Given the description of an element on the screen output the (x, y) to click on. 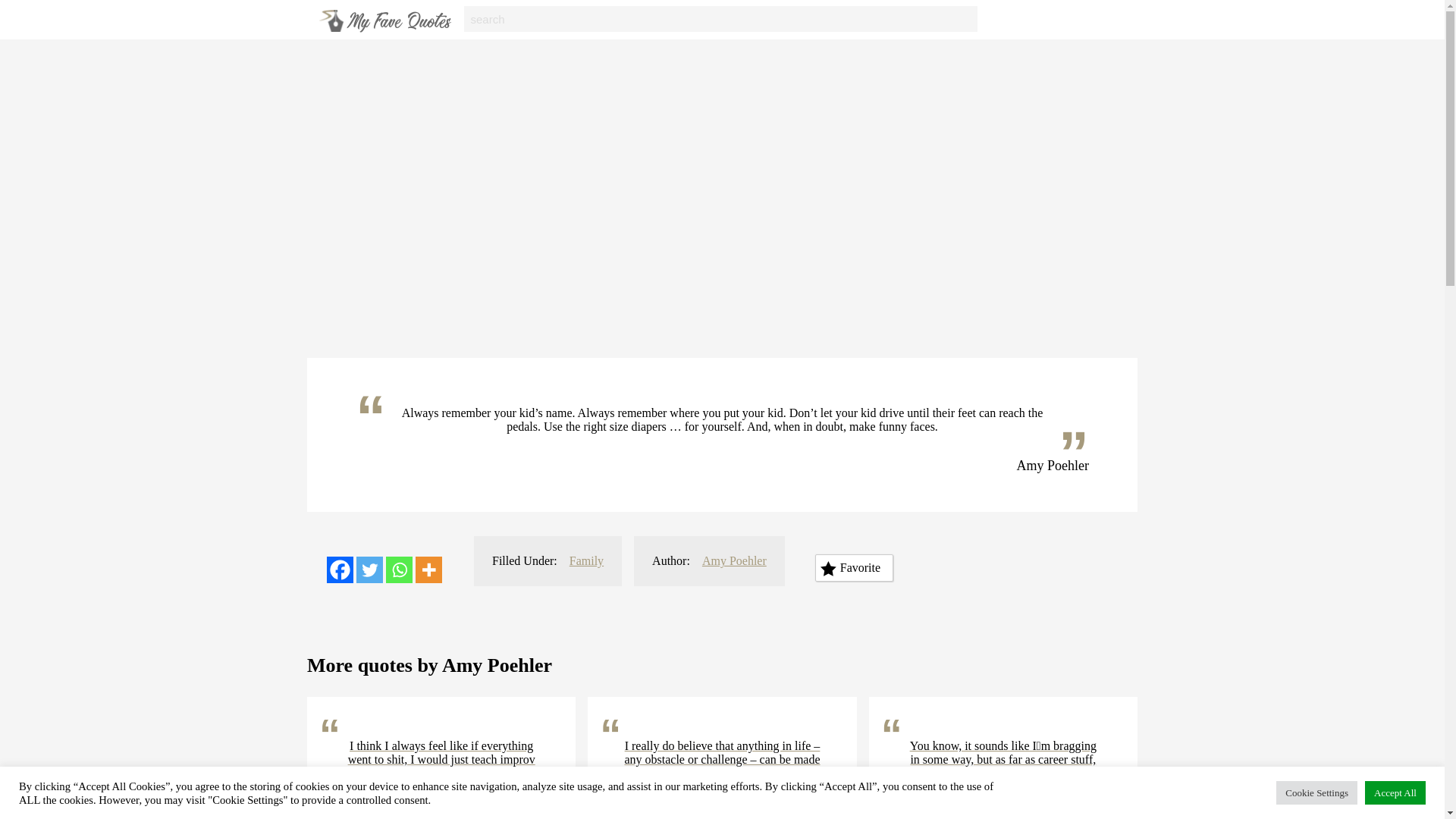
Whatsapp (398, 569)
More (428, 569)
Facebook (339, 569)
Twitter (369, 569)
Family (586, 560)
Amy Poehler (734, 560)
